Given the description of an element on the screen output the (x, y) to click on. 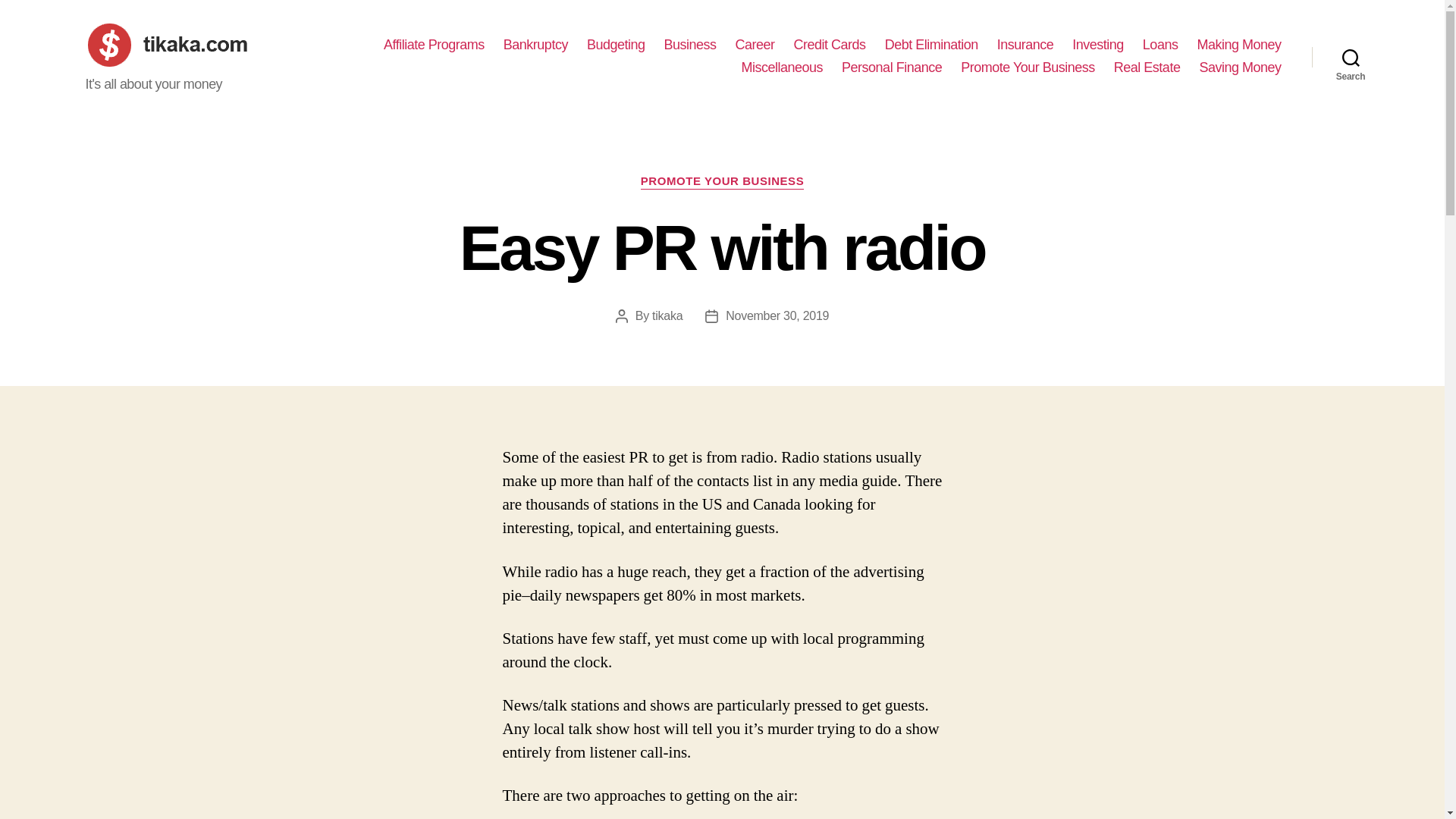
Personal Finance (891, 67)
Affiliate Programs (434, 45)
Making Money (1238, 45)
Credit Cards (829, 45)
Career (754, 45)
Miscellaneous (782, 67)
Investing (1097, 45)
Bankruptcy (535, 45)
Promote Your Business (1027, 67)
Loans (1159, 45)
